Given the description of an element on the screen output the (x, y) to click on. 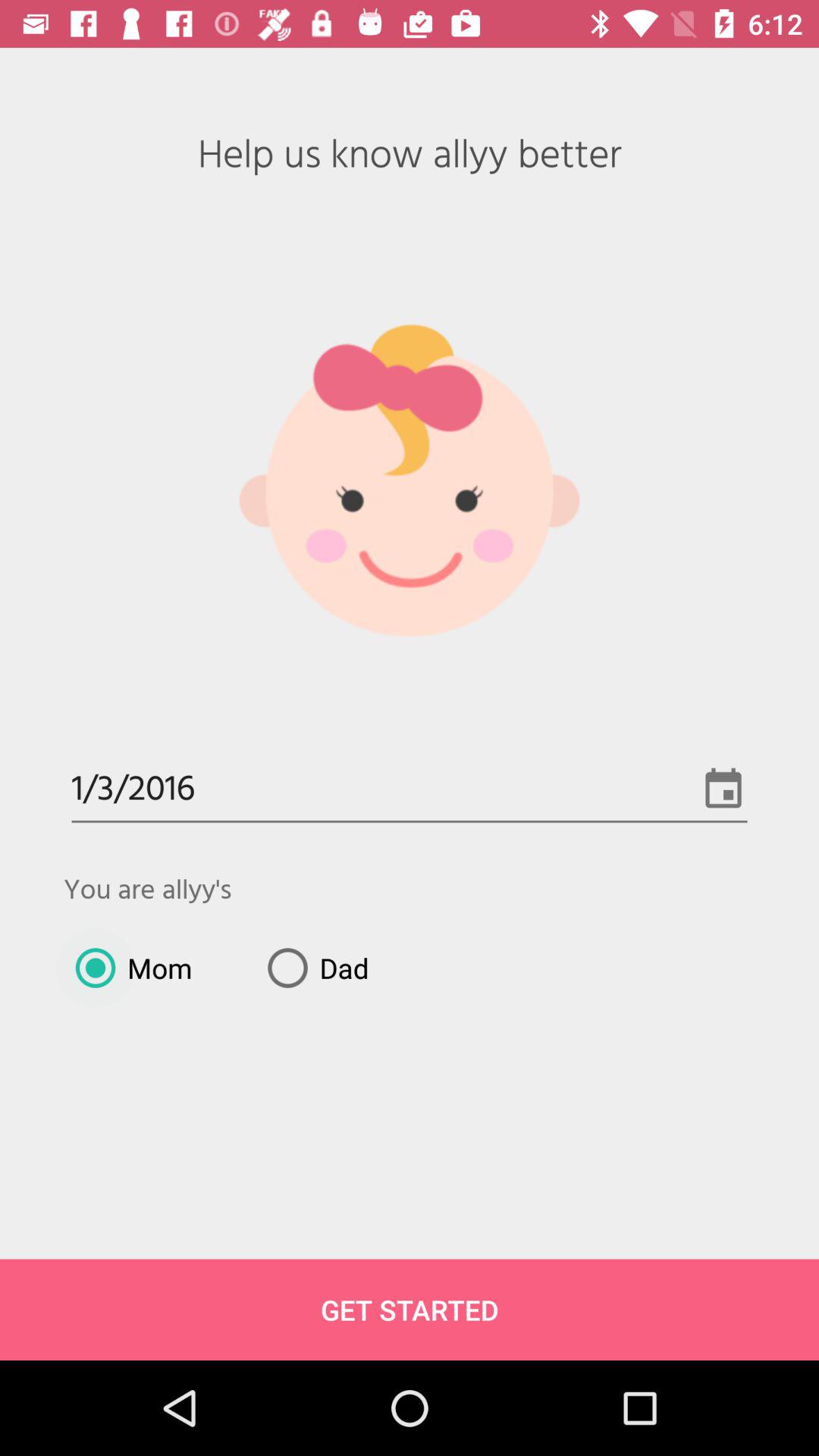
press dad icon (312, 967)
